Given the description of an element on the screen output the (x, y) to click on. 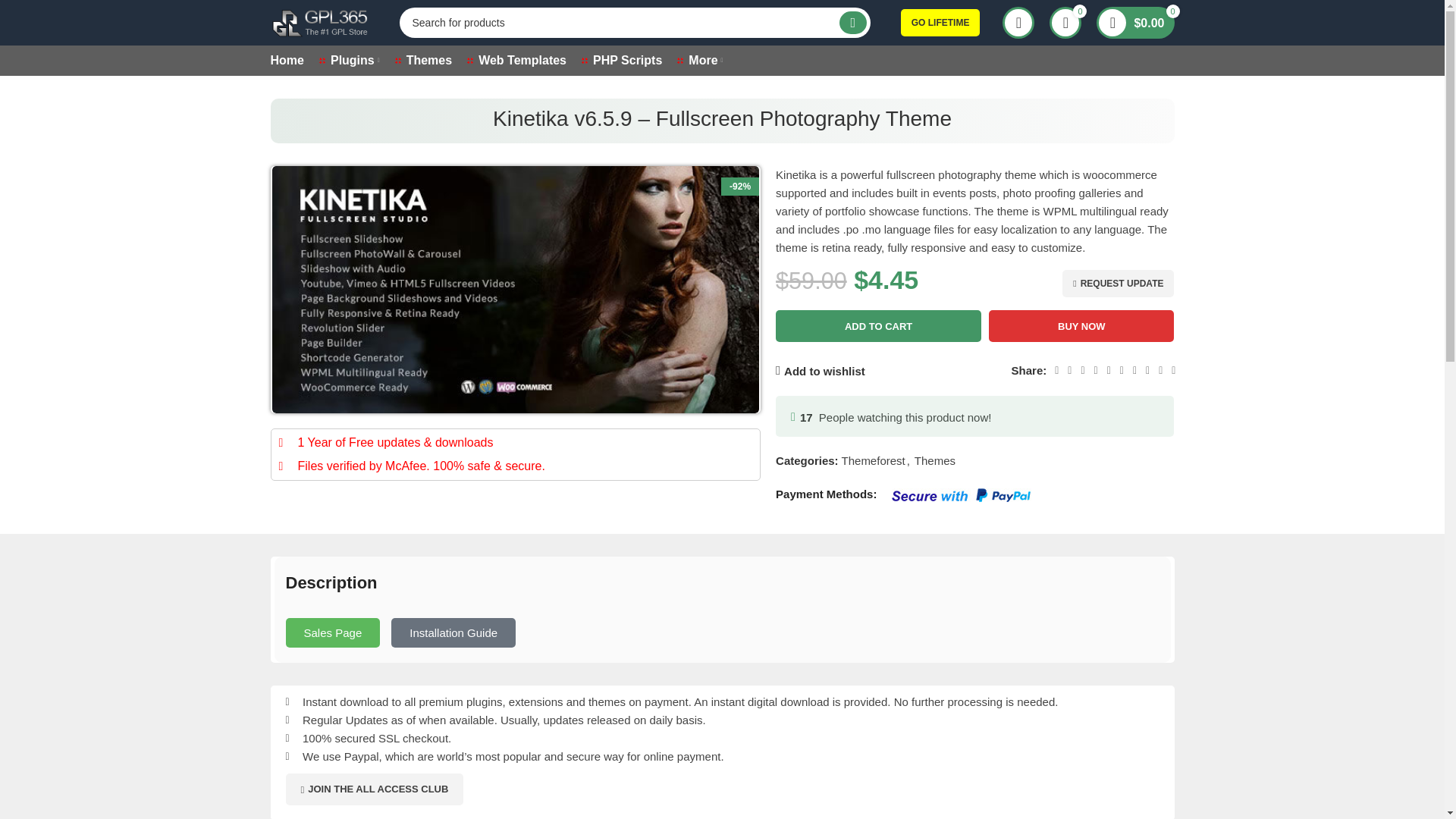
Home (285, 60)
GO LIFETIME (940, 22)
0 (1065, 22)
payments2 (960, 495)
My Wishlist (1065, 22)
Themeforest (873, 460)
REQUEST UPDATE (1117, 283)
PHP Scripts (621, 60)
BUY NOW (1080, 326)
Installation Guide (453, 632)
